Given the description of an element on the screen output the (x, y) to click on. 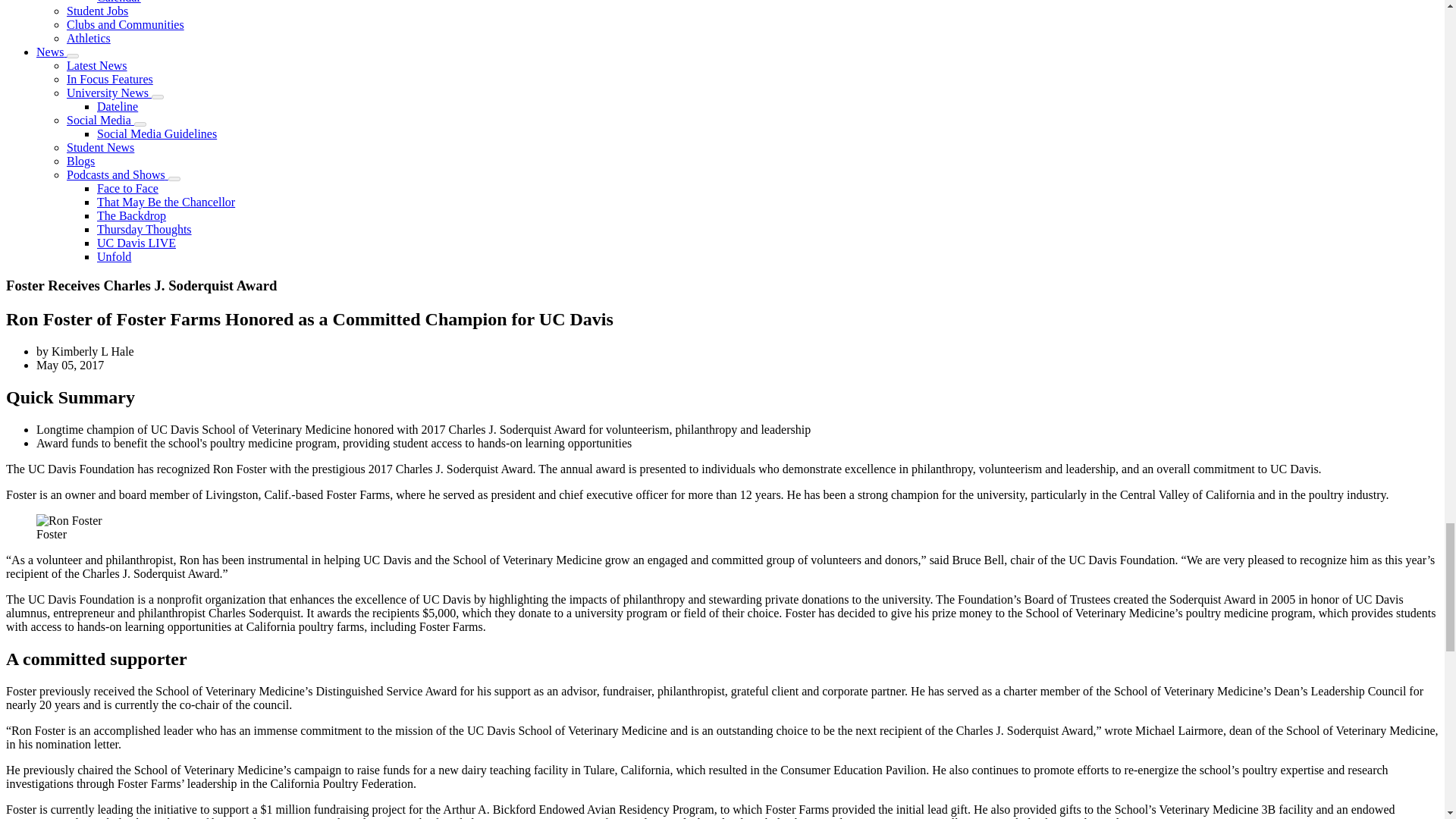
Friday, May 5, 2017 - 12:21pm (69, 364)
